Given the description of an element on the screen output the (x, y) to click on. 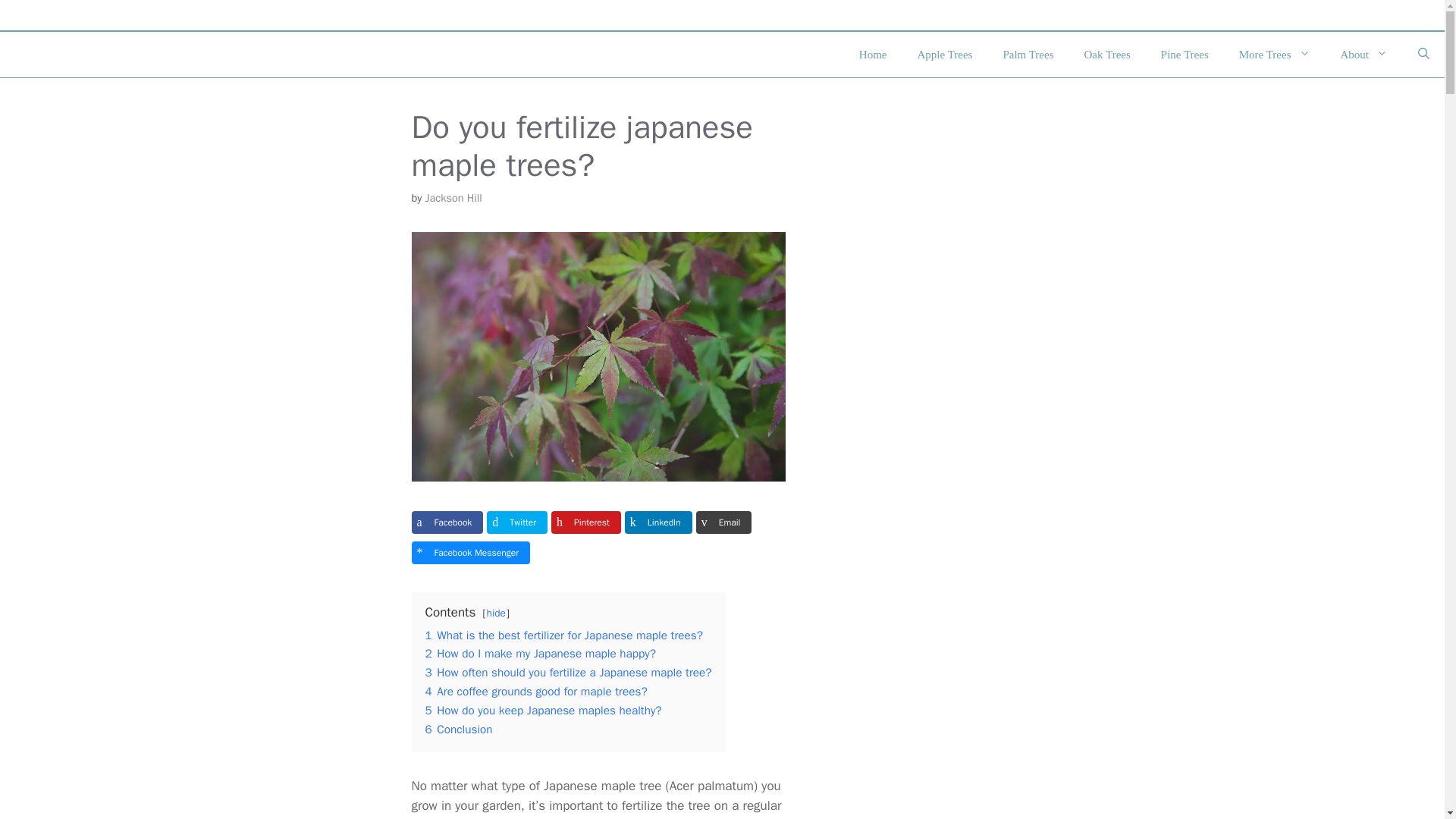
Share on LinkedIn (658, 522)
Pine Trees (1184, 53)
Pinterest (586, 522)
Twitter (516, 522)
Share on Email (723, 522)
1 What is the best fertilizer for Japanese maple trees? (563, 635)
Share on Pinterest (586, 522)
View all posts by Jackson Hill (453, 197)
Share on Twitter (516, 522)
About (1363, 53)
More Trees (1274, 53)
Facebook (446, 522)
Share on Facebook (446, 522)
2 How do I make my Japanese maple happy? (540, 653)
Jackson Hill (453, 197)
